Given the description of an element on the screen output the (x, y) to click on. 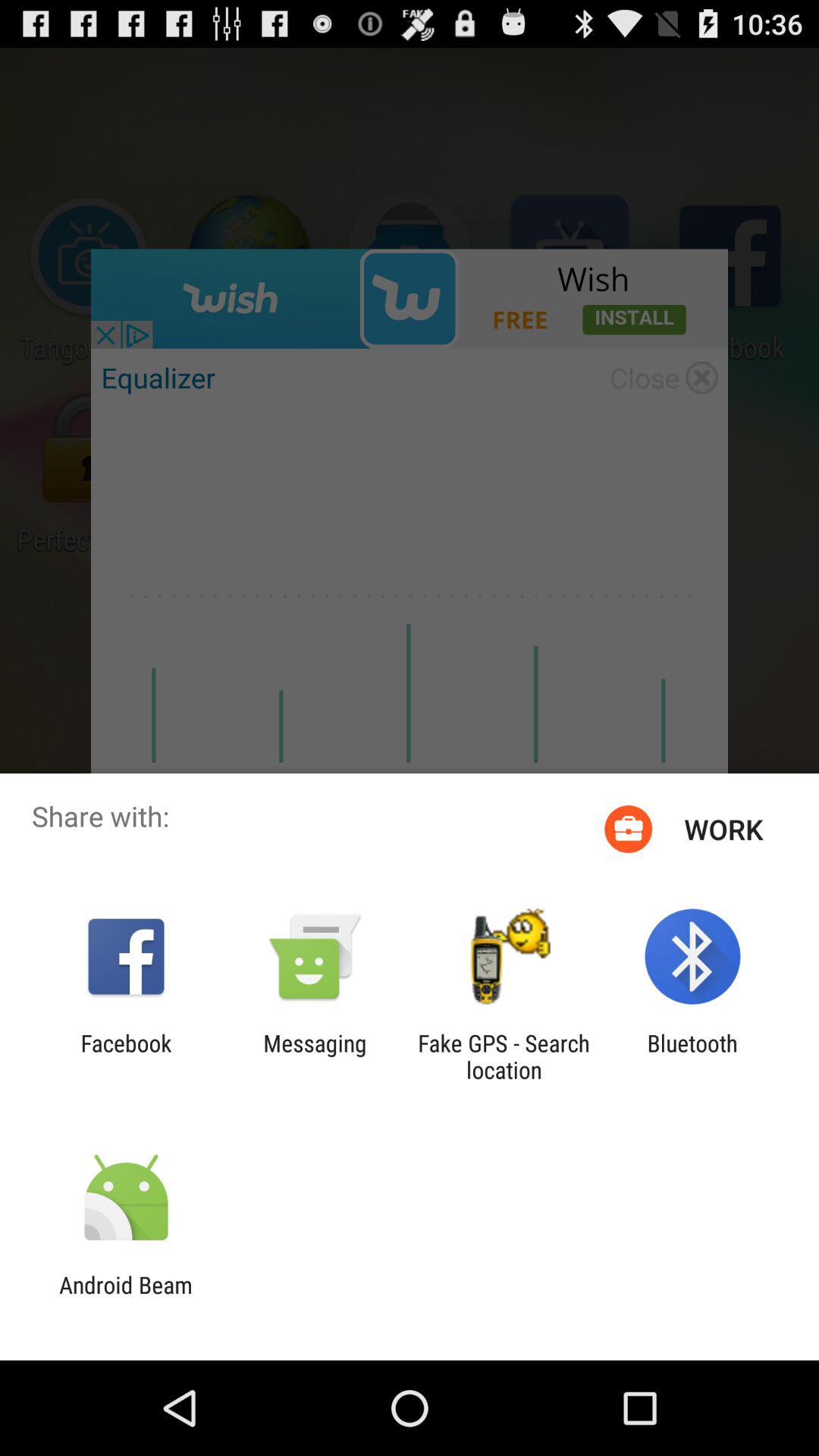
open item next to fake gps search item (314, 1056)
